Given the description of an element on the screen output the (x, y) to click on. 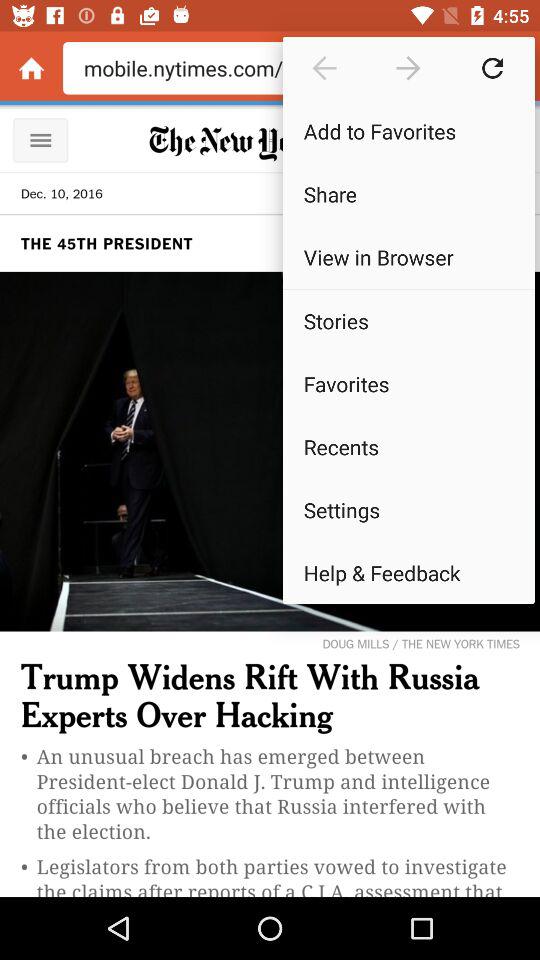
swipe until the help & feedback (408, 572)
